Given the description of an element on the screen output the (x, y) to click on. 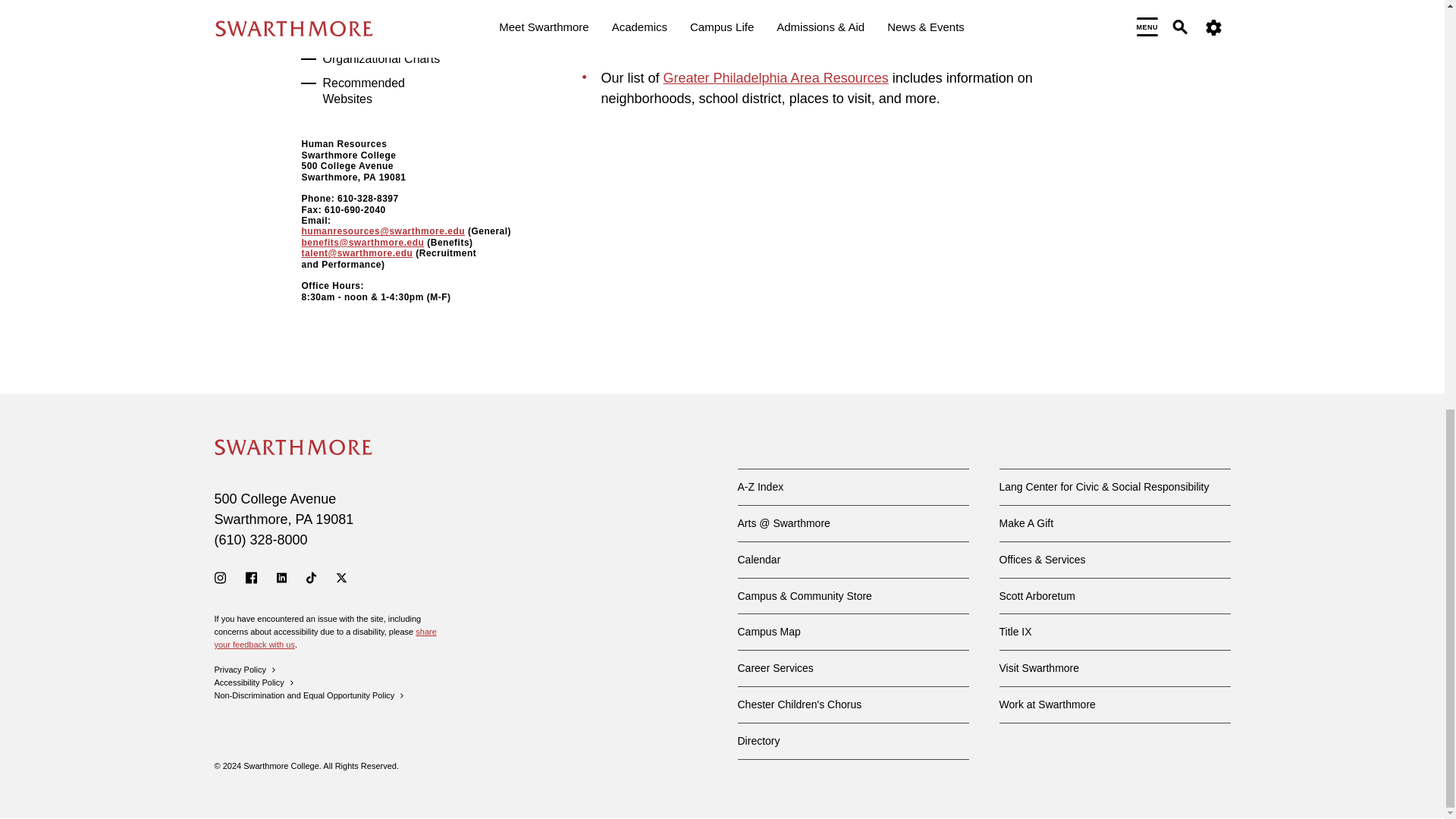
Pennsylvania (304, 519)
Instagram (219, 577)
Swarthmore College - Home (292, 446)
Facebook (251, 577)
